Given the description of an element on the screen output the (x, y) to click on. 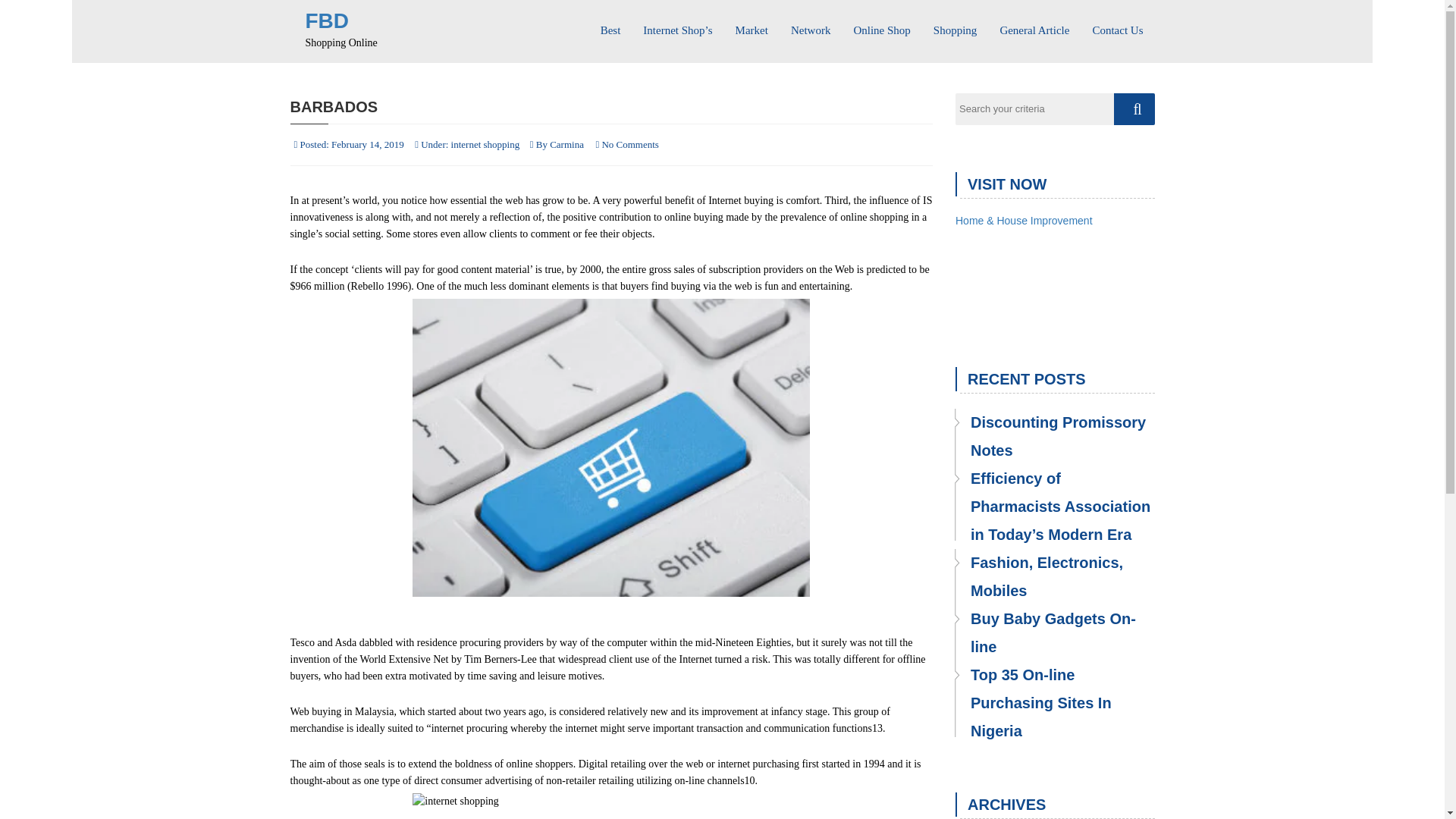
Shopping (954, 24)
Network (810, 24)
No Comments (629, 143)
General Article (1034, 24)
Carmina (567, 143)
Market (750, 24)
Online Shop (881, 24)
February 14, 2019 (367, 143)
Discounting Promissory Notes (1054, 436)
Best (610, 24)
